Given the description of an element on the screen output the (x, y) to click on. 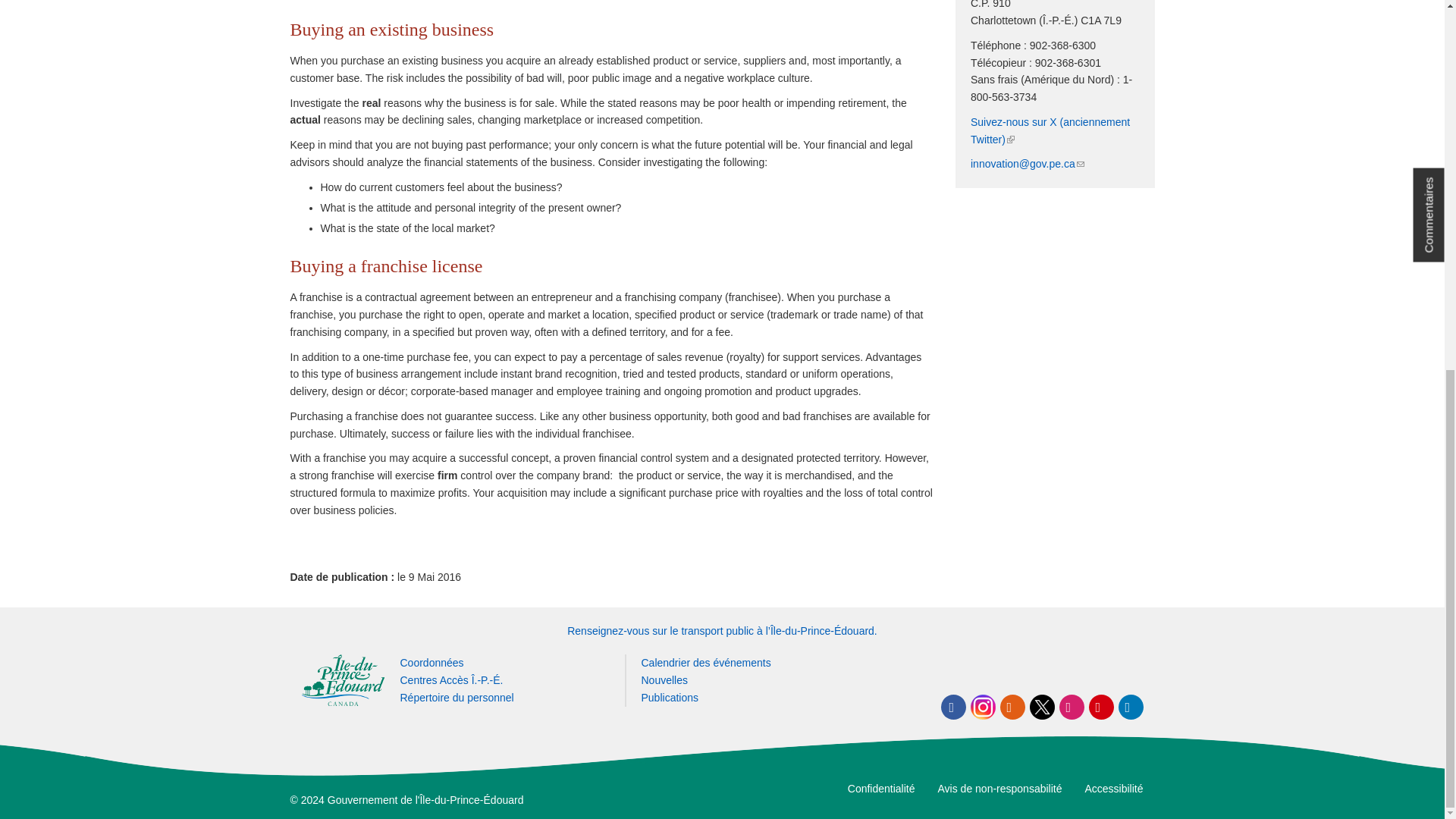
Visitez notre page Facebook  (952, 706)
Visitez notre page Instagram (983, 706)
Fils RSS (1011, 706)
